Given the description of an element on the screen output the (x, y) to click on. 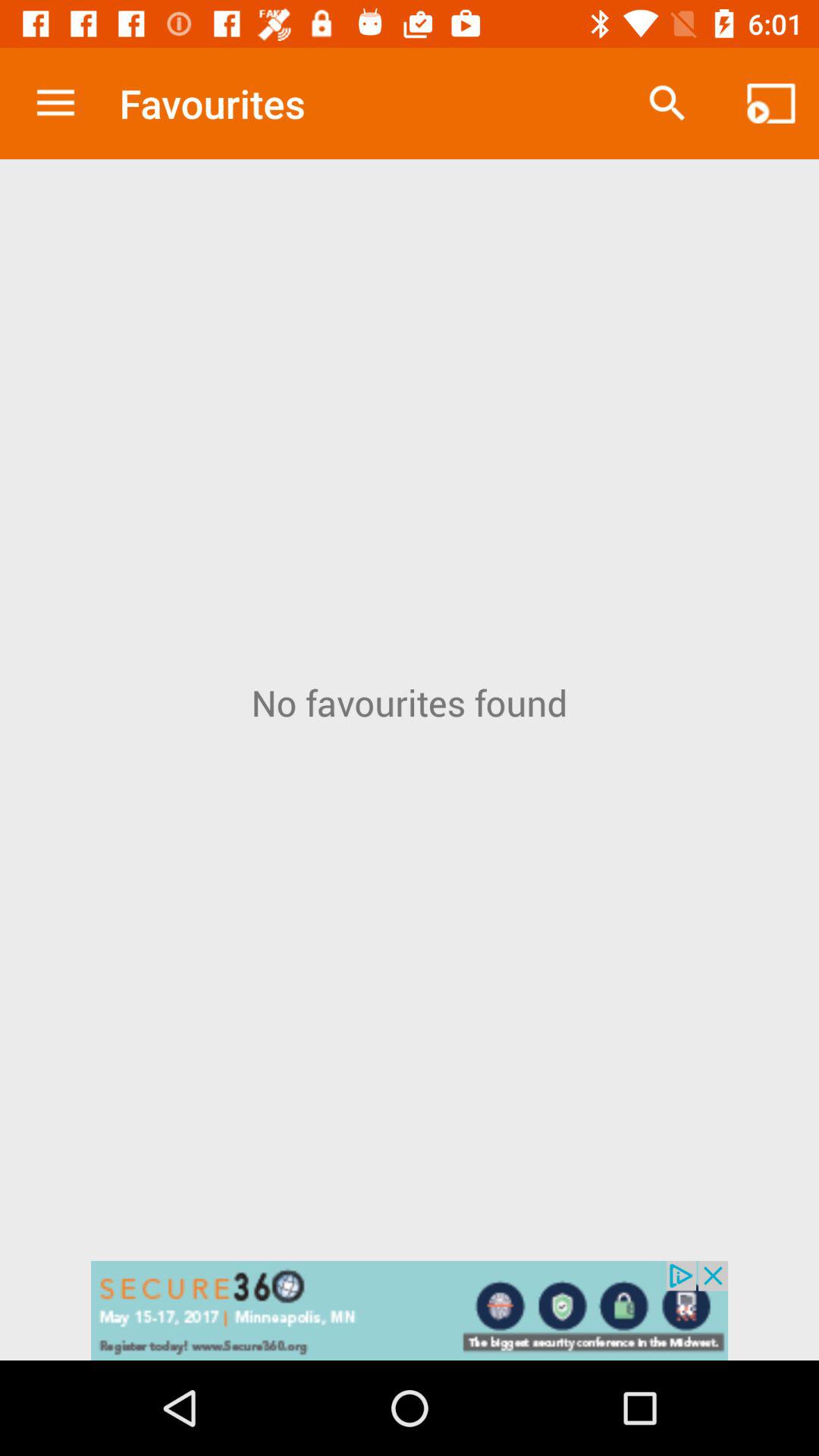
advertising pop up banner (409, 1310)
